Given the description of an element on the screen output the (x, y) to click on. 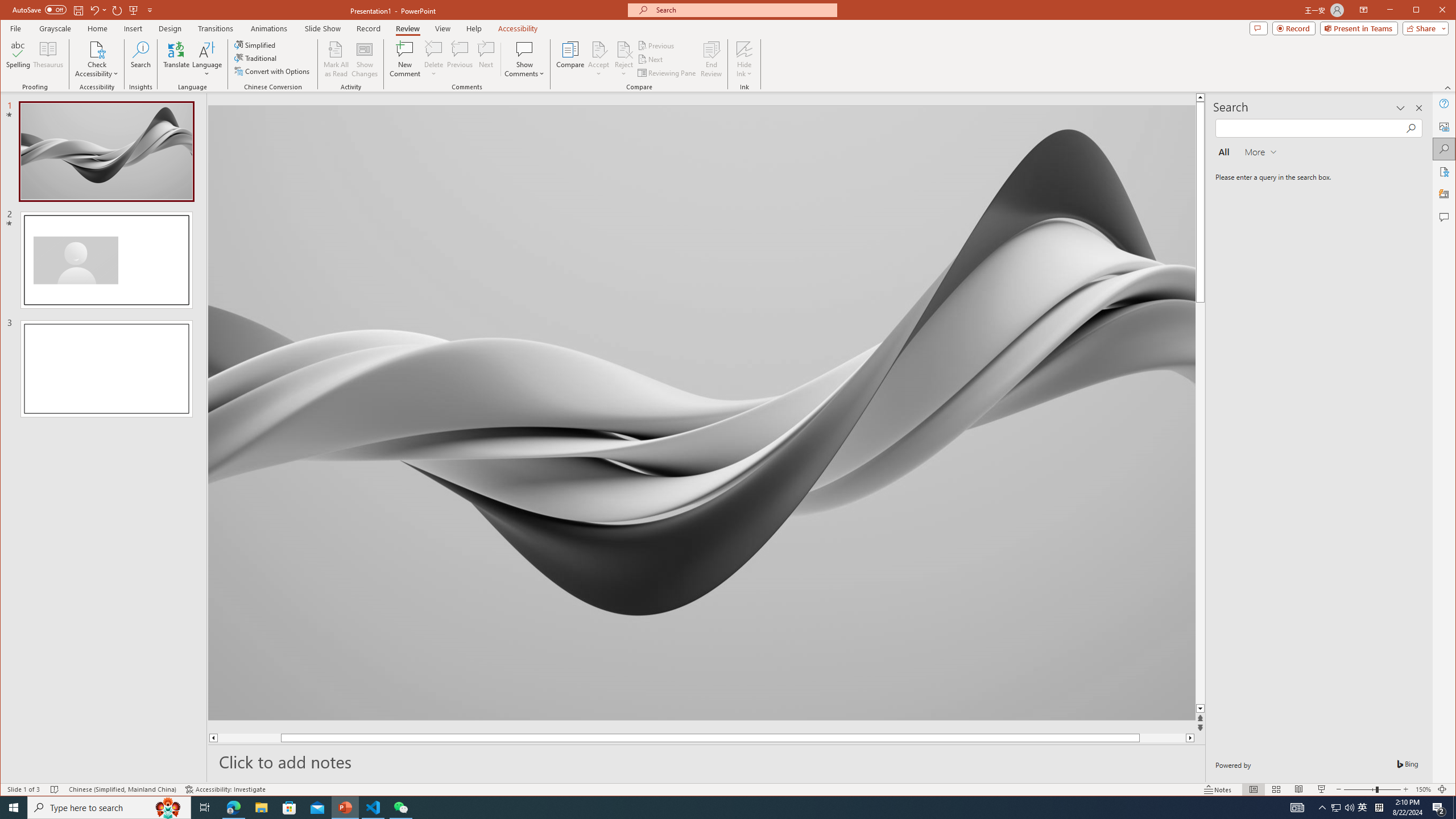
Reject (623, 59)
Zoom 150% (1422, 789)
Traditional (256, 57)
New Comment (405, 59)
Wavy 3D art (701, 412)
